Given the description of an element on the screen output the (x, y) to click on. 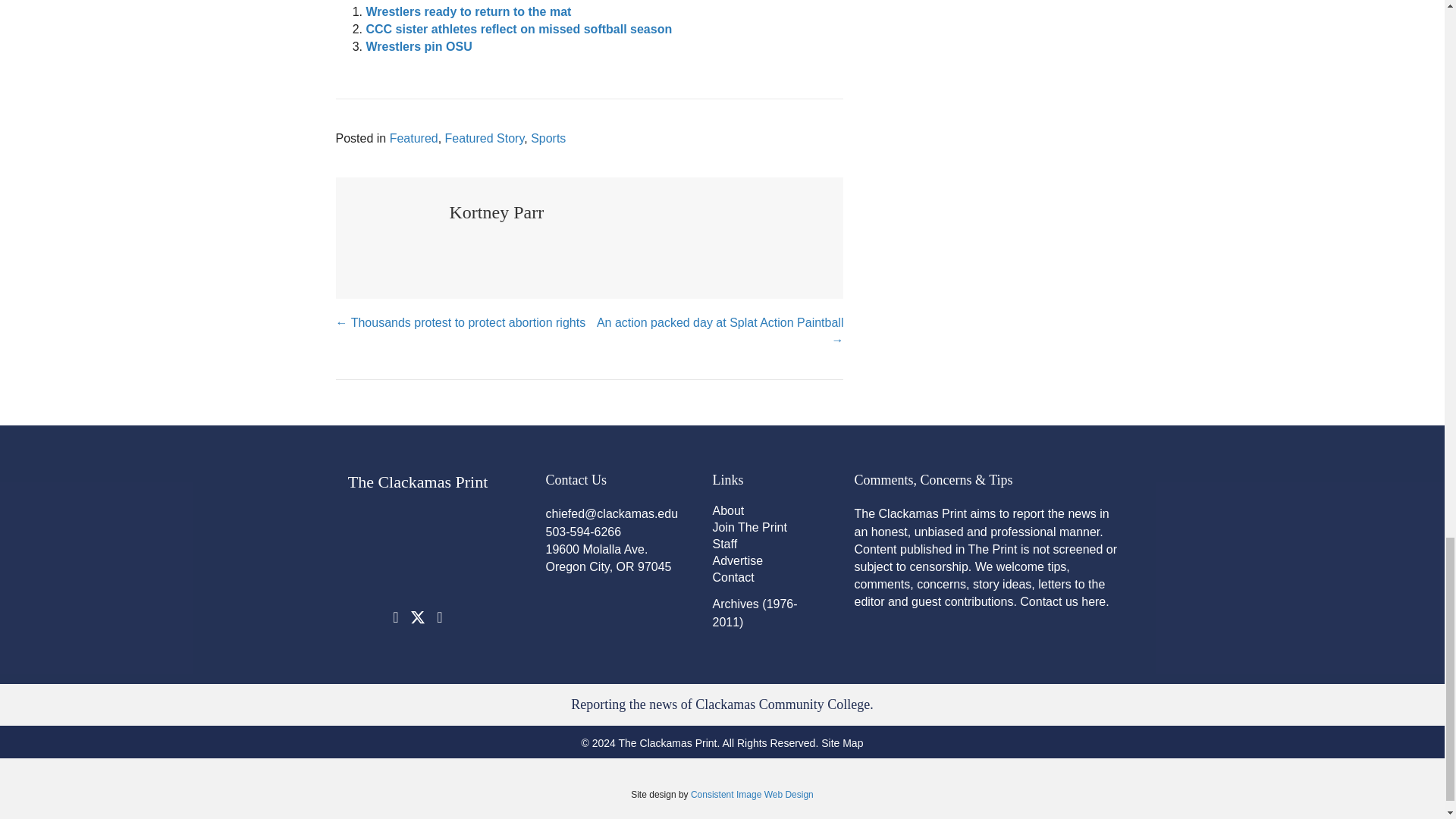
CCC sister athletes reflect on missed softball season (518, 29)
CCC sister athletes reflect on missed softball season (518, 29)
Wrestlers ready to return to the mat (467, 11)
Wrestlers pin OSU (418, 46)
Wrestlers pin OSU (418, 46)
Facebook (395, 617)
Wrestlers ready to return to the mat (467, 11)
